Given the description of an element on the screen output the (x, y) to click on. 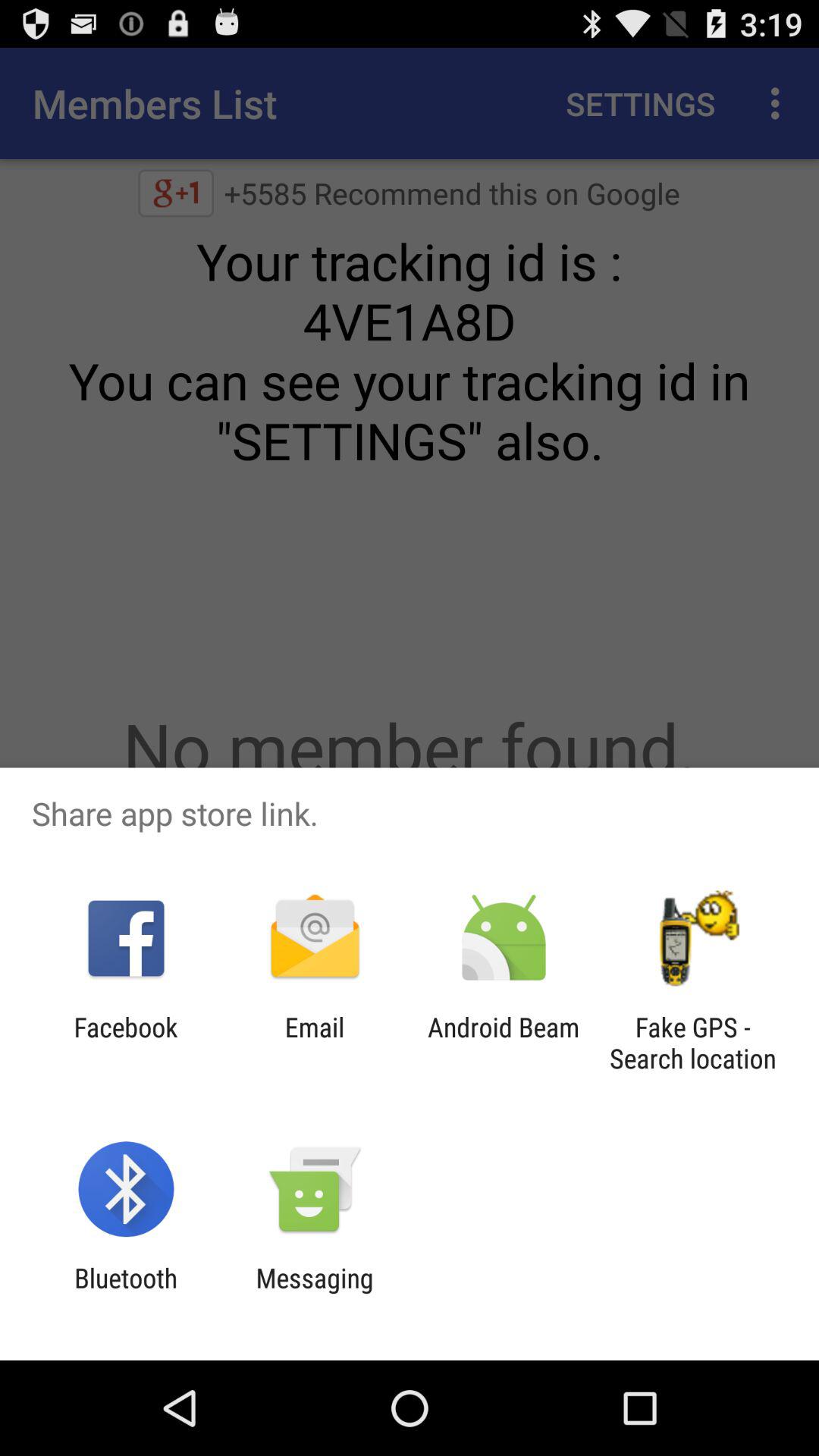
turn on icon next to android beam (314, 1042)
